Given the description of an element on the screen output the (x, y) to click on. 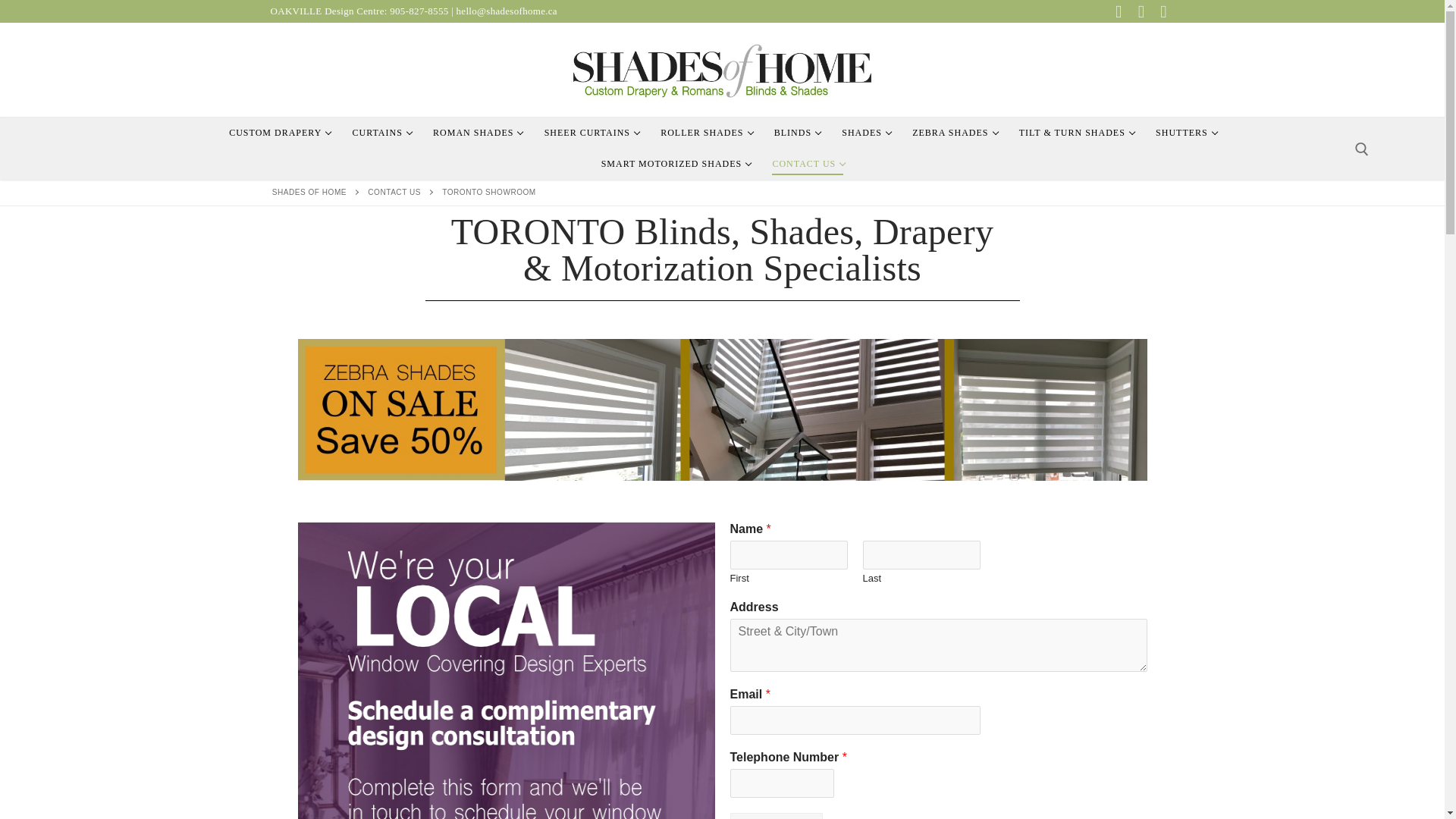
E-mail (1163, 11)
Facebook (1117, 11)
Go to Shades of Home. (309, 192)
Pinterest (590, 132)
Go to Contact Us. (477, 132)
